Given the description of an element on the screen output the (x, y) to click on. 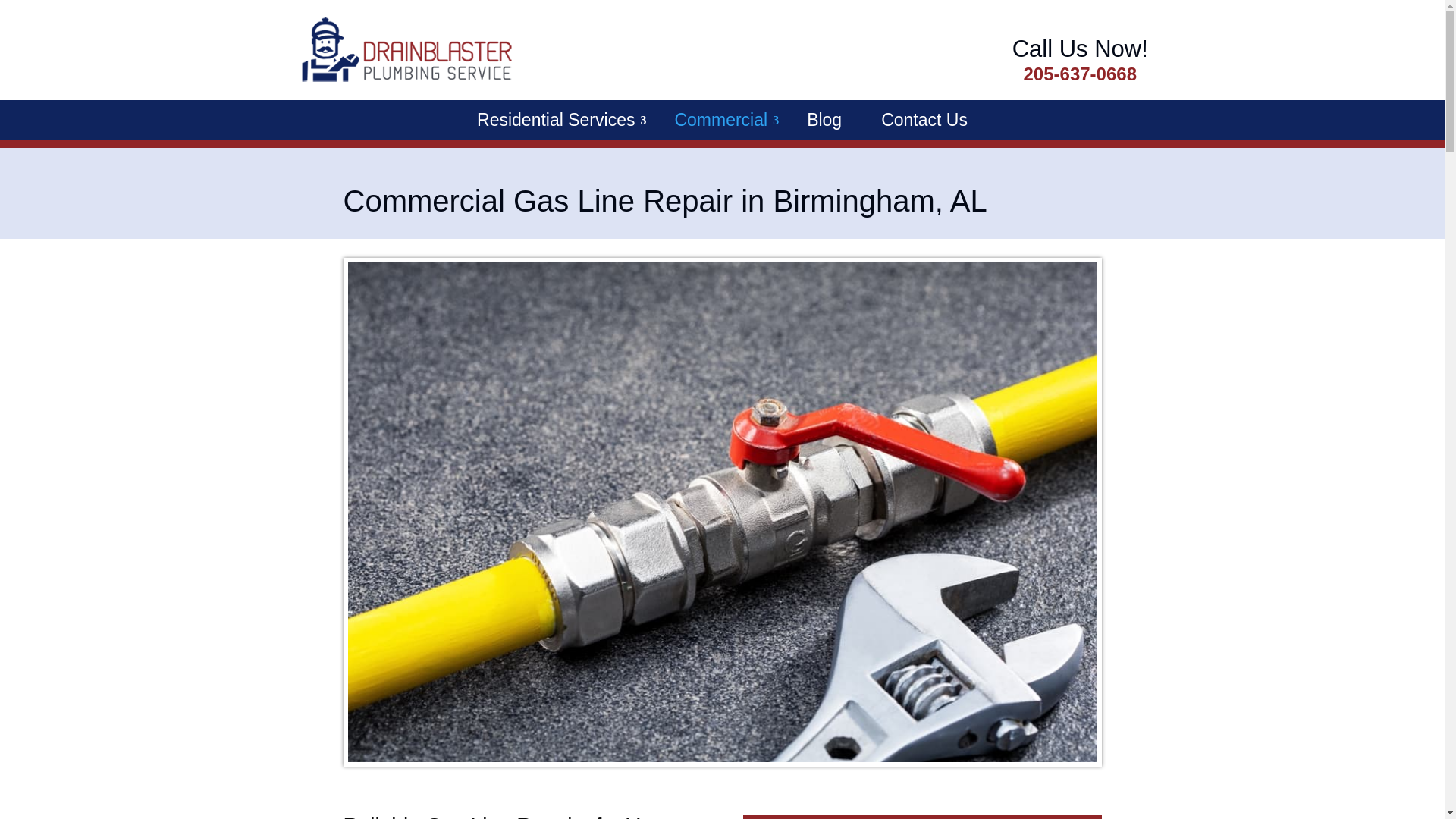
Residential Services (555, 119)
Blog (823, 119)
Commercial (720, 119)
205-637-0668 (1080, 73)
Contact Us (923, 119)
